Given the description of an element on the screen output the (x, y) to click on. 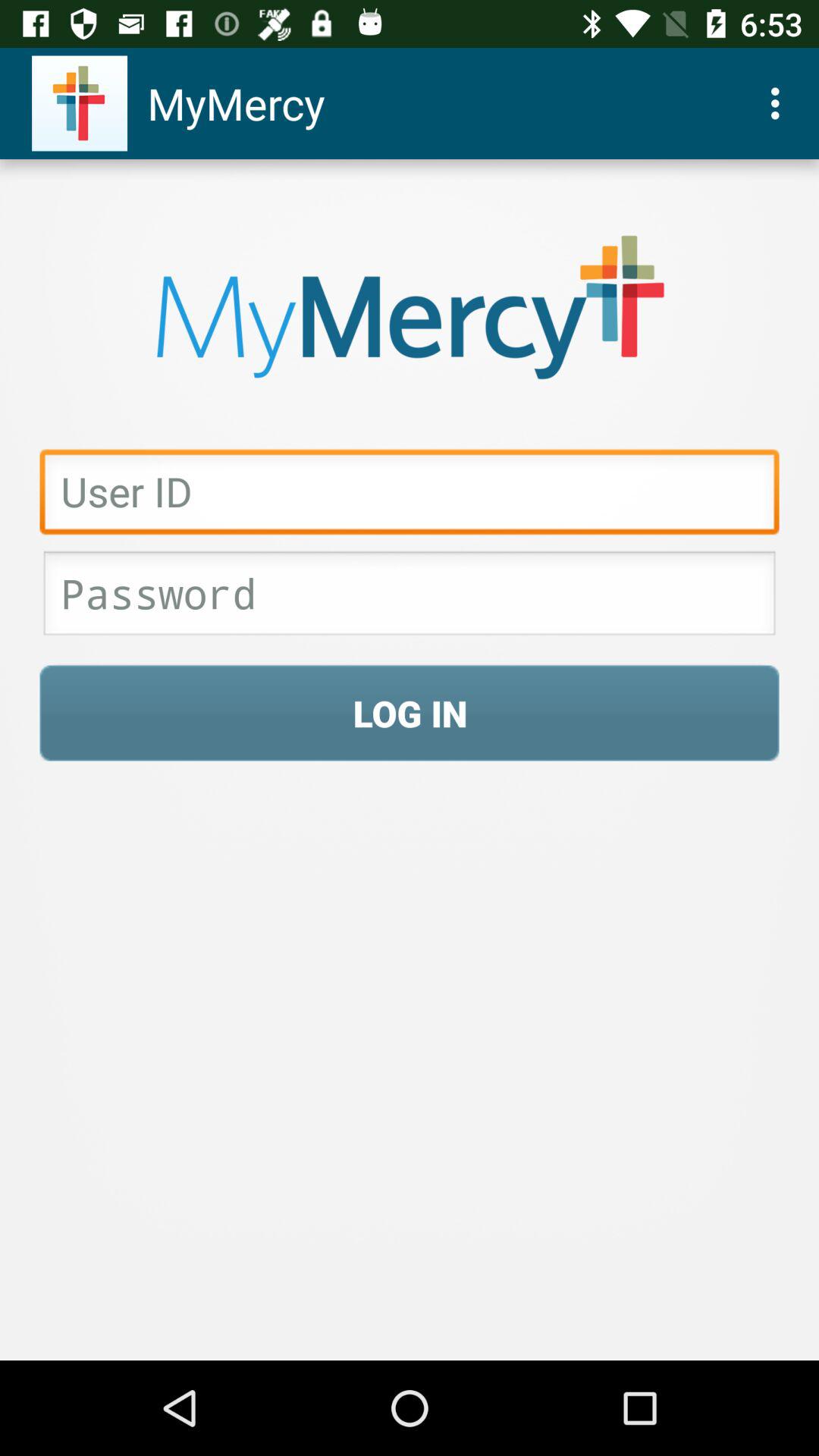
scroll until the log in (409, 712)
